Given the description of an element on the screen output the (x, y) to click on. 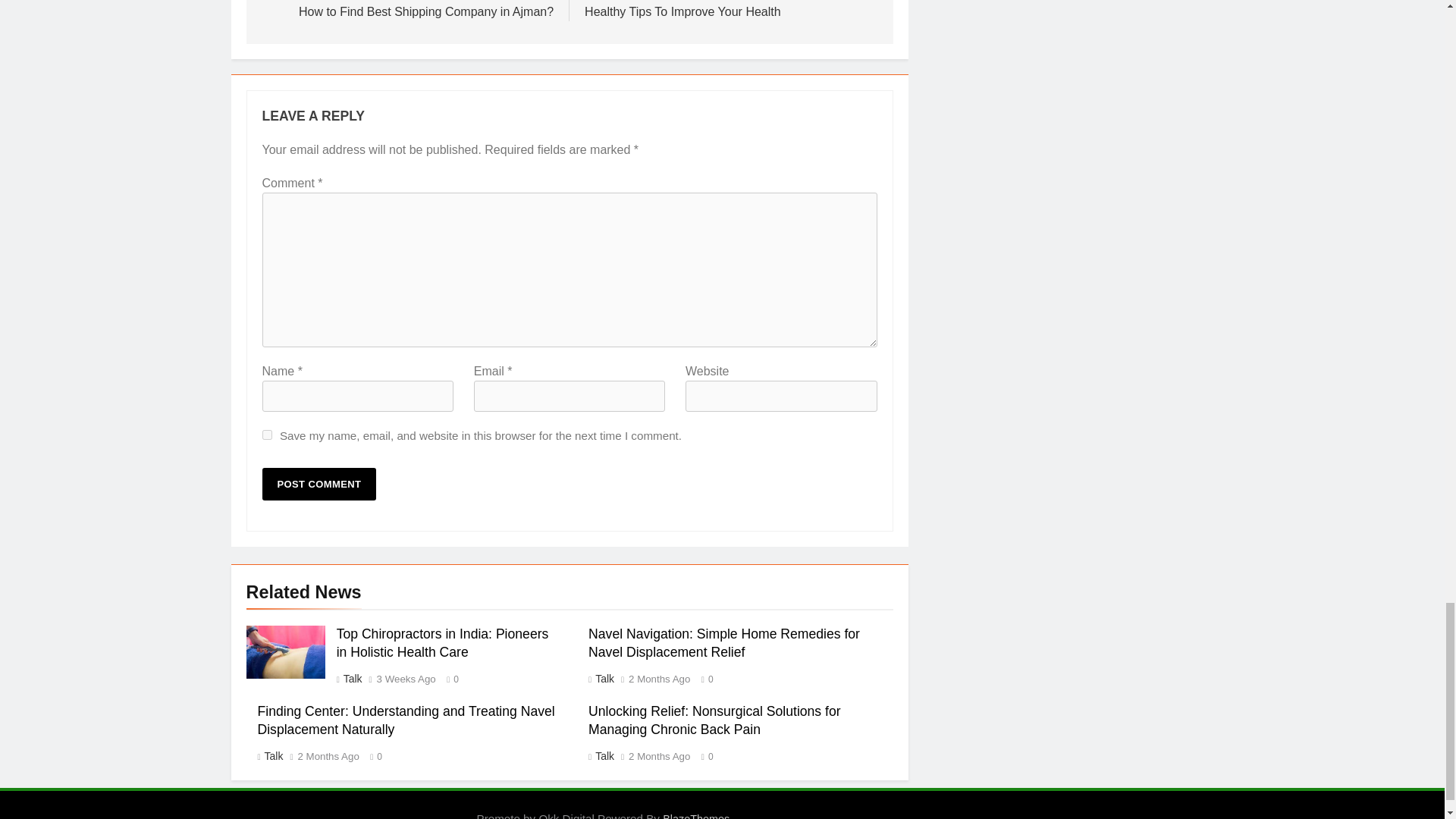
yes (267, 434)
Post Comment (319, 483)
